Given the description of an element on the screen output the (x, y) to click on. 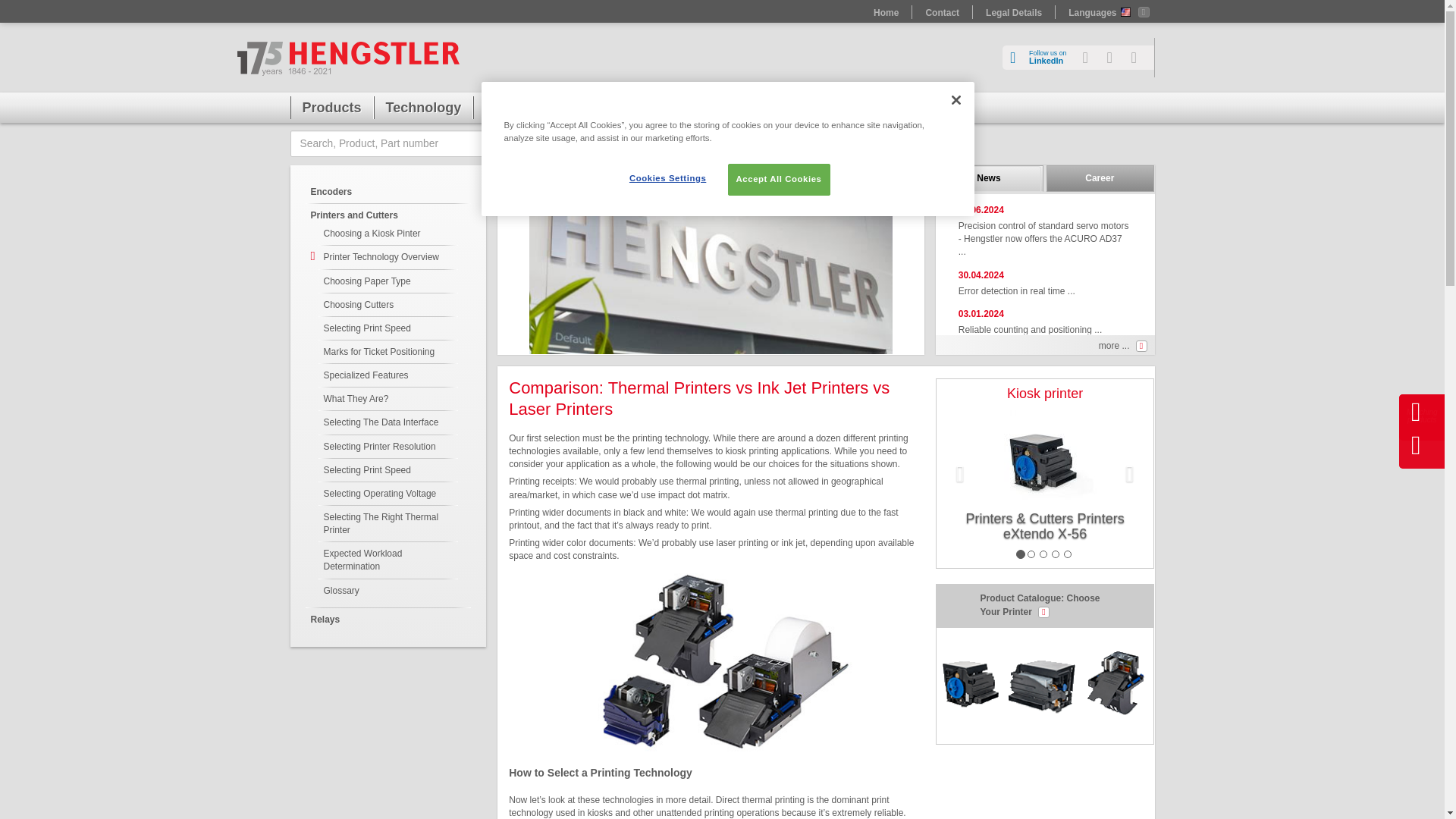
Contact (942, 11)
Products (330, 111)
Print page (1090, 57)
Legal Details (1013, 11)
Home (885, 11)
Contact (1040, 57)
Languages (1140, 57)
